Given the description of an element on the screen output the (x, y) to click on. 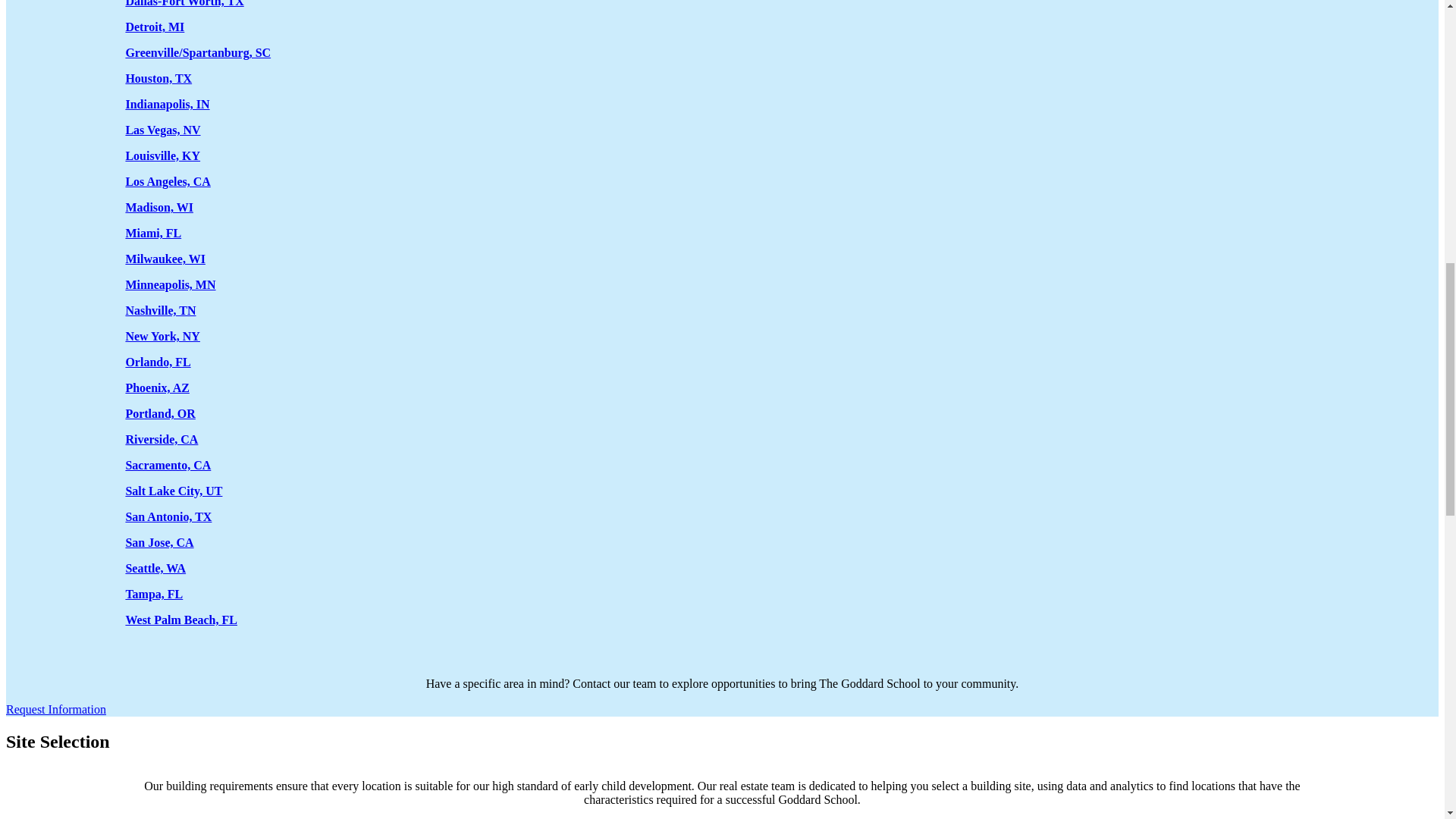
Detroit, MI (154, 26)
Madison, WI (159, 206)
Houston, TX (158, 78)
Orlando, FL (157, 361)
Indianapolis, IN (167, 103)
Las Vegas, NV (162, 129)
Louisville, KY (162, 155)
Los Angeles, CA (167, 181)
Minneapolis, MN (170, 284)
New York, NY (162, 336)
Dallas-Fort Worth, TX (184, 3)
Milwaukee, WI (165, 258)
Miami, FL (152, 232)
Nashville, TN (160, 309)
